Given the description of an element on the screen output the (x, y) to click on. 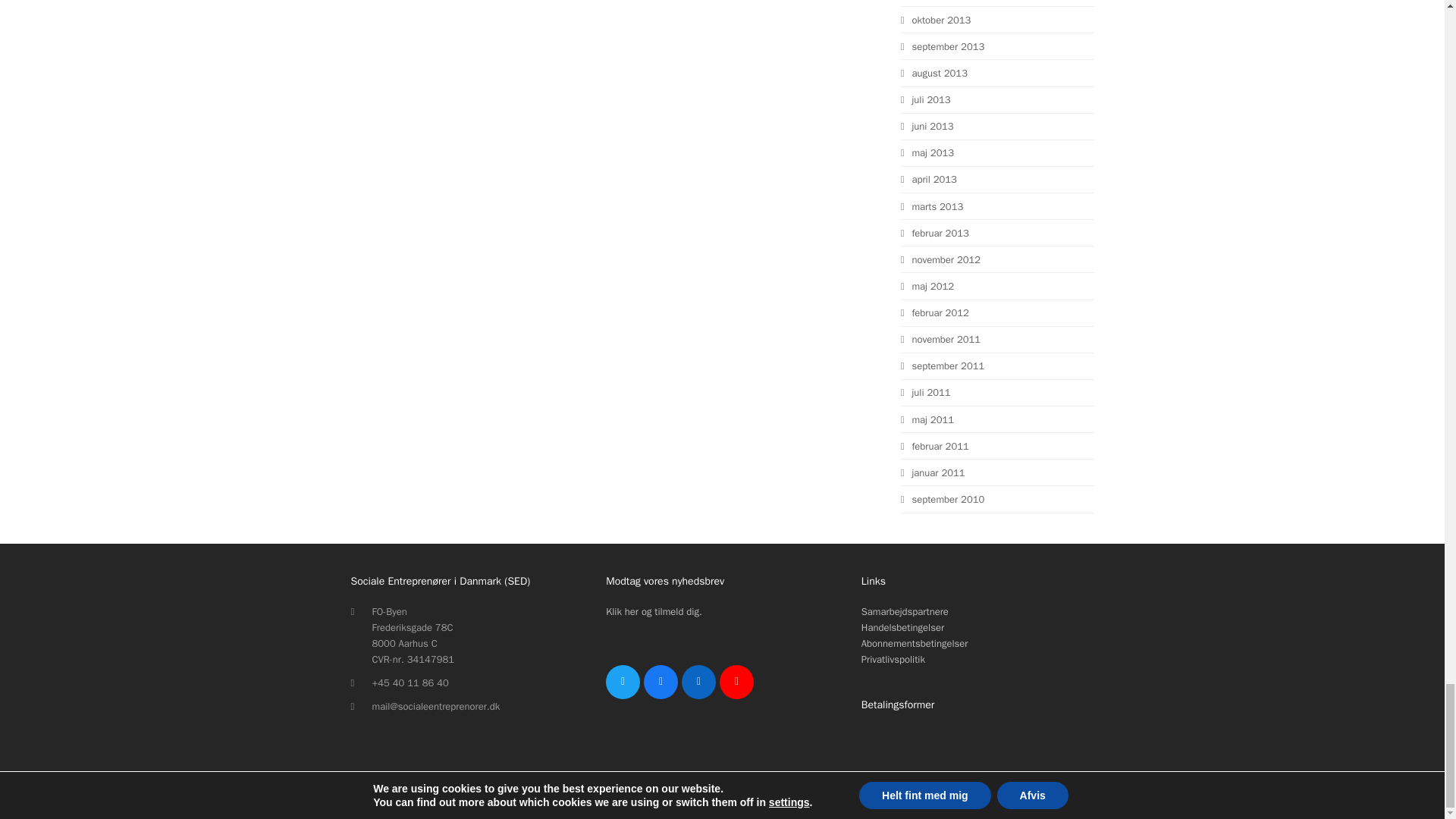
Facebook (660, 682)
Twitter (622, 682)
LinkedIn (698, 682)
Youtube (736, 682)
